Given the description of an element on the screen output the (x, y) to click on. 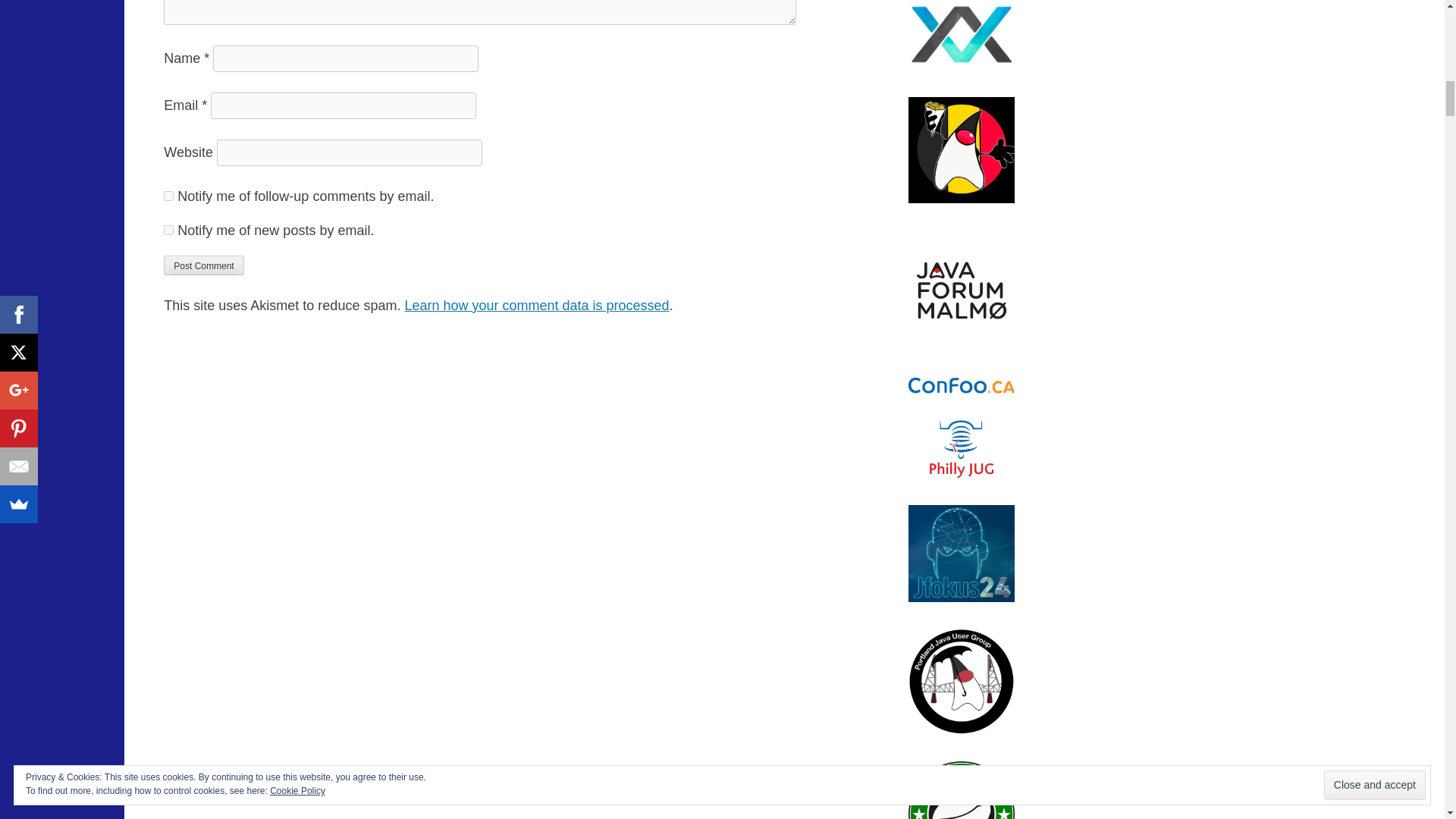
Learn how your comment data is processed (536, 305)
subscribe (168, 195)
Post Comment (203, 265)
subscribe (168, 230)
Post Comment (203, 265)
